Given the description of an element on the screen output the (x, y) to click on. 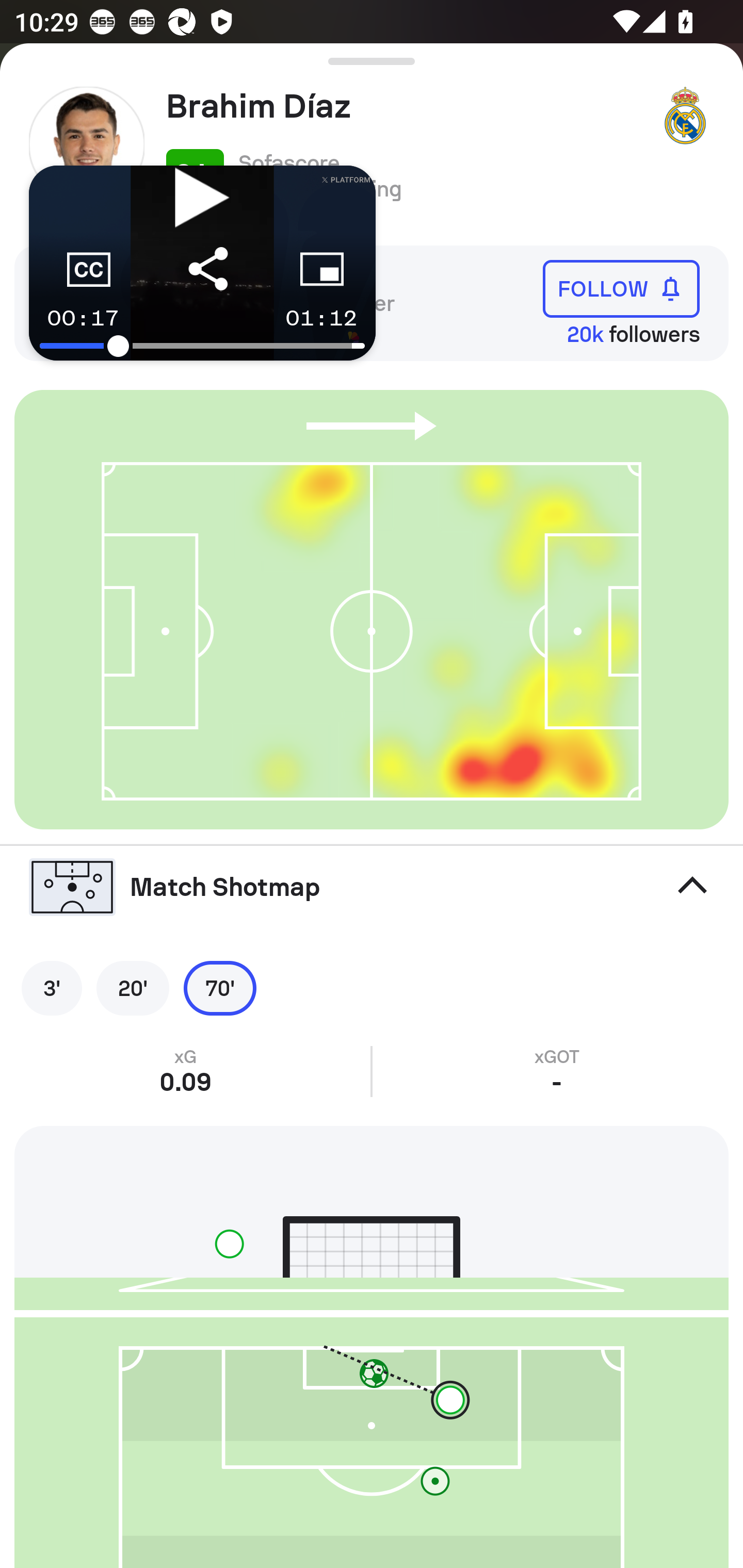
Brahim Díaz (403, 105)
FOLLOW (621, 289)
Match Shotmap (371, 886)
3' (51, 988)
20' (132, 988)
70' (219, 988)
